Given the description of an element on the screen output the (x, y) to click on. 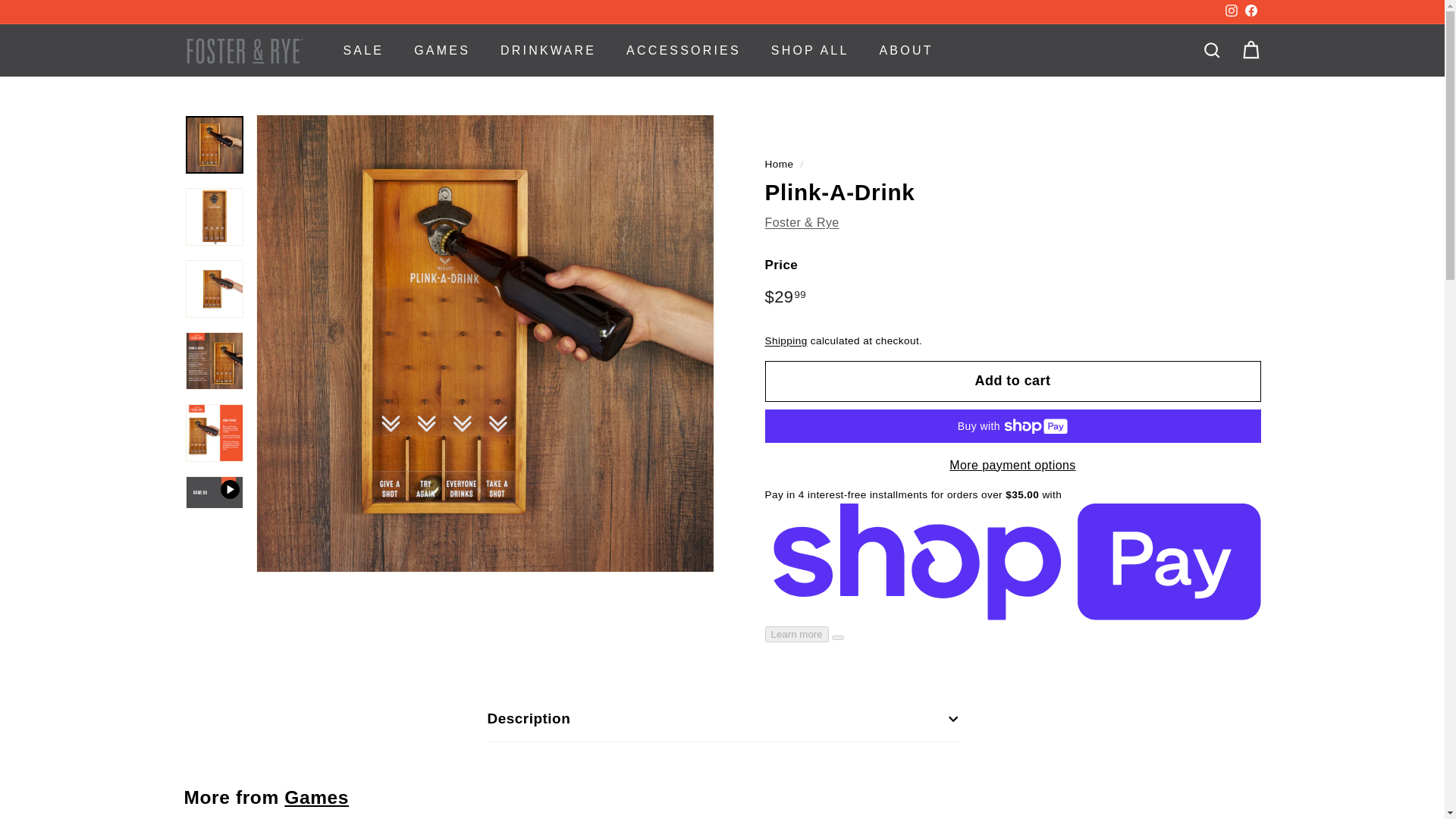
Home (778, 163)
instagram (1231, 10)
SALE (362, 50)
SHOP ALL (809, 50)
DRINKWARE (547, 50)
Back to the frontpage (778, 163)
GAMES (441, 50)
ACCESSORIES (683, 50)
ABOUT (906, 50)
